Given the description of an element on the screen output the (x, y) to click on. 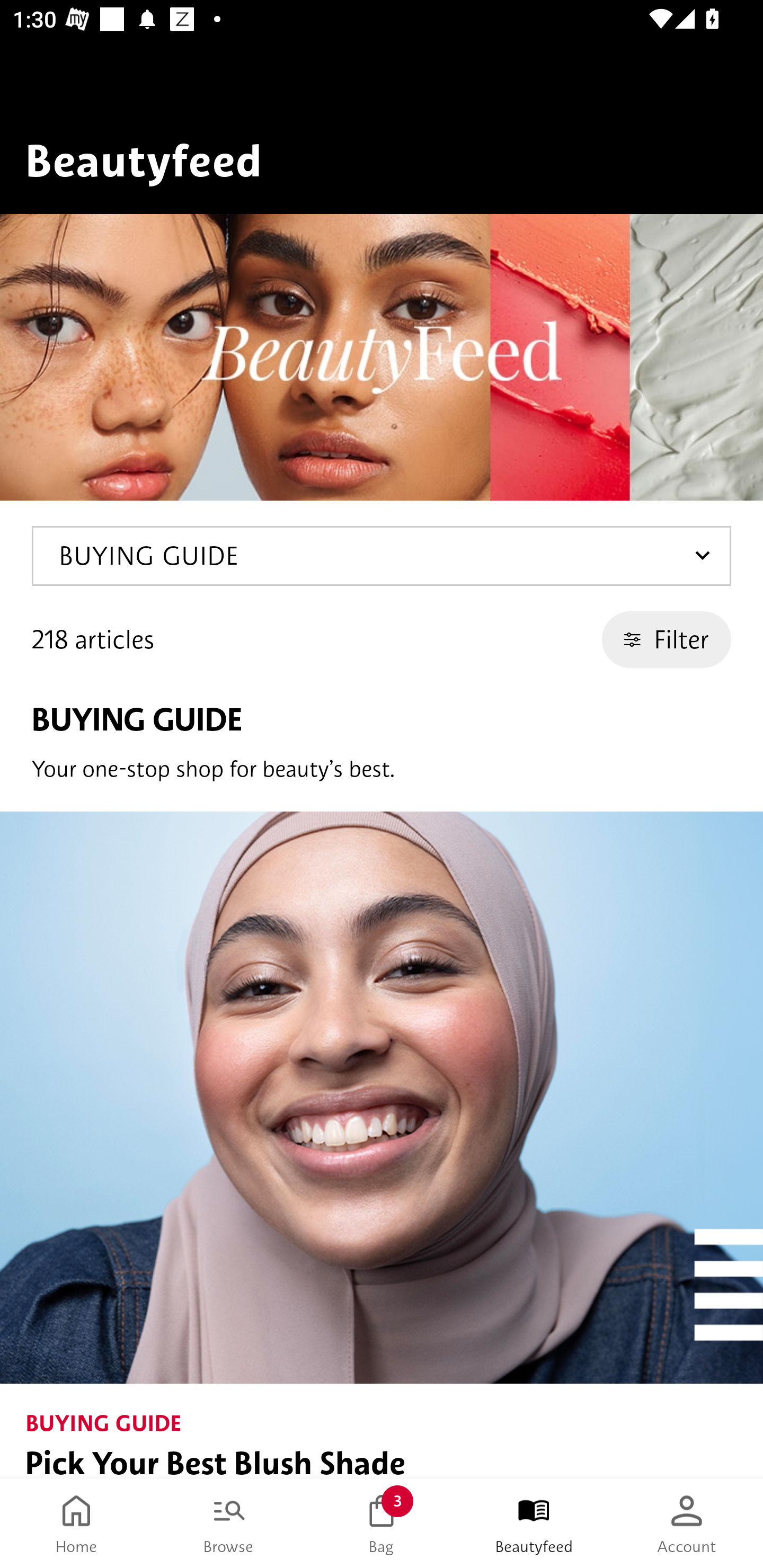
BUYING GUIDE (381, 555)
Filter (666, 639)
BUYING GUIDE Pick Your Best Blush Shade (381, 1145)
Home (76, 1523)
Browse (228, 1523)
Bag 3 Bag (381, 1523)
Account (686, 1523)
